Given the description of an element on the screen output the (x, y) to click on. 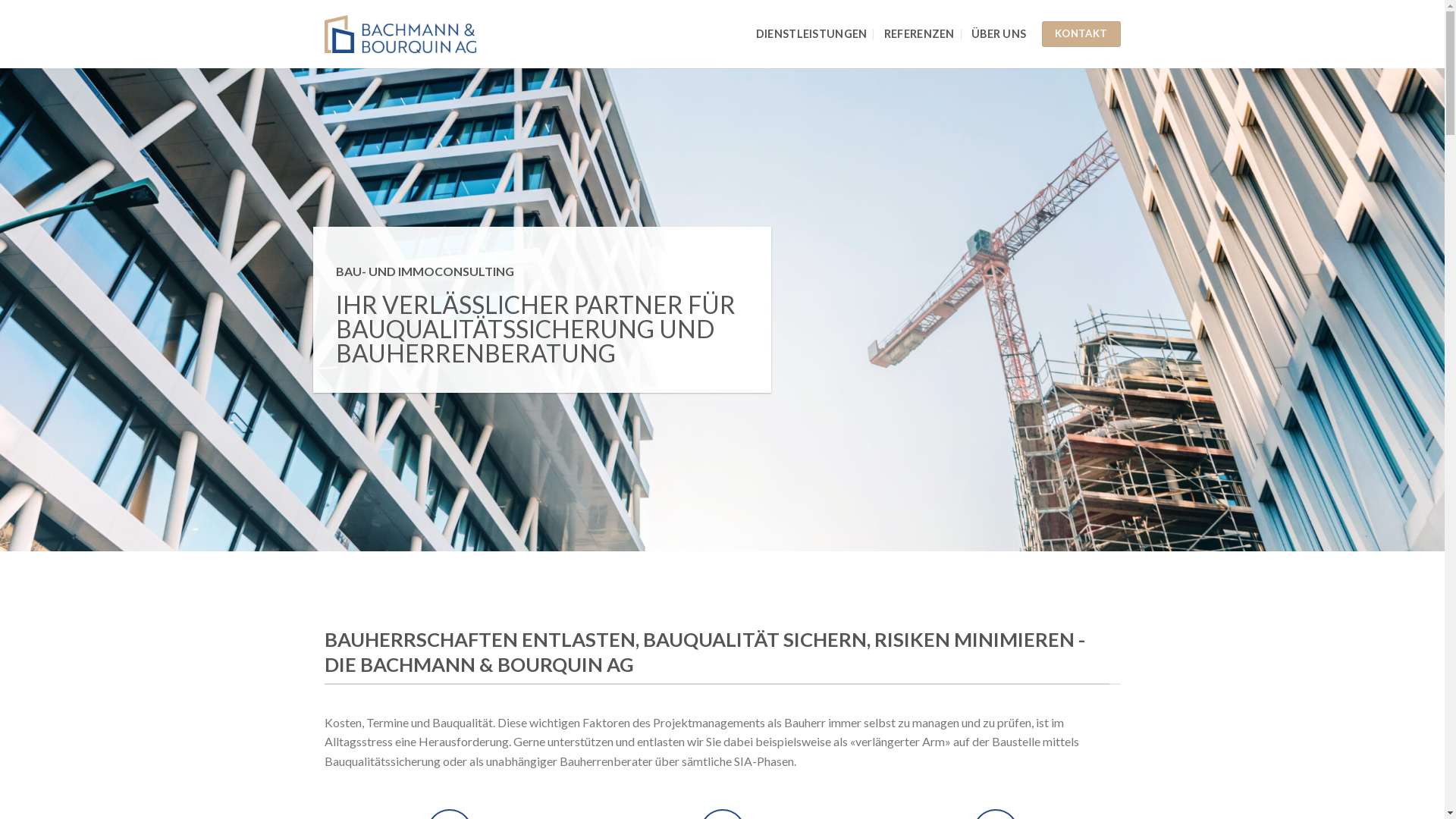
REFERENZEN Element type: text (919, 33)
KONTAKT Element type: text (1080, 34)
DIENSTLEISTUNGEN Element type: text (811, 33)
Bachmann & Bourquin AG - Bau- und Immoconsulting Element type: hover (400, 34)
